Given the description of an element on the screen output the (x, y) to click on. 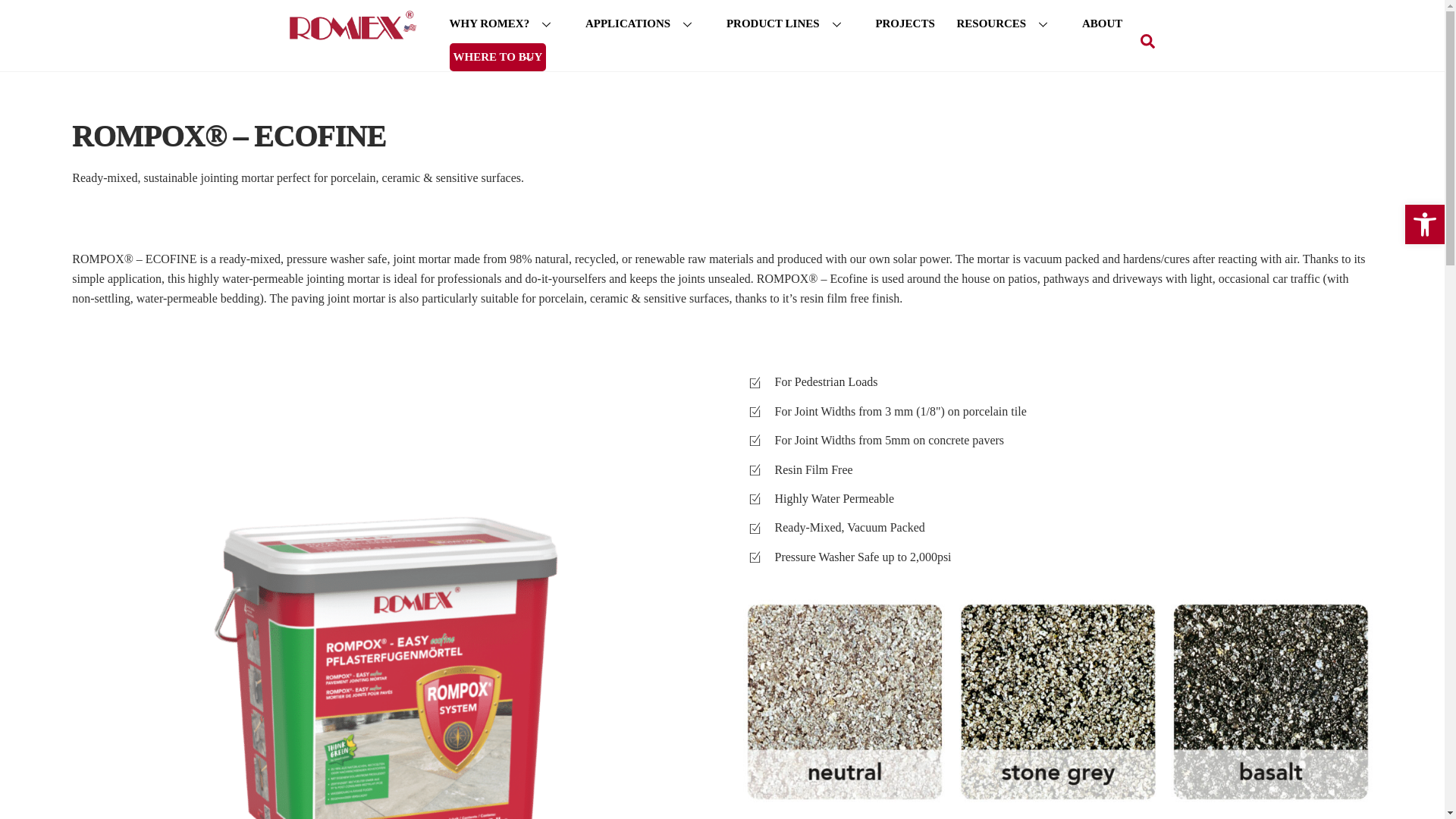
ROMEX USA (350, 36)
PRODUCT LINES (789, 23)
SEARCH (1146, 40)
ABOUT (1101, 23)
WHERE TO BUY (497, 56)
RESOURCES (1007, 23)
WHY ROMEX? (505, 23)
PROJECTS (904, 23)
APPLICATIONS (644, 23)
Accessibility Tools (1424, 224)
2-Comp-1024x331 (1057, 701)
